Given the description of an element on the screen output the (x, y) to click on. 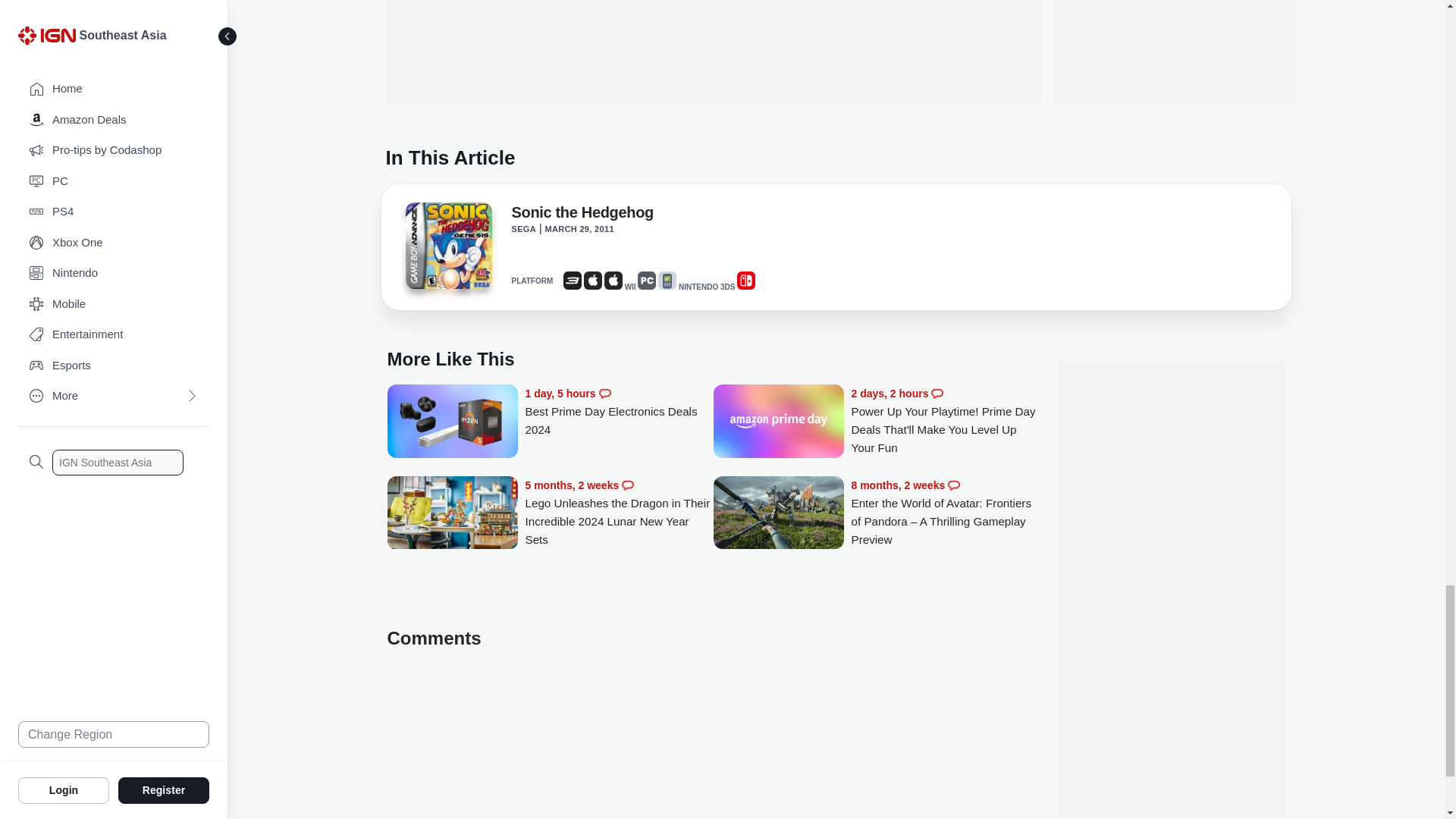
MACINTOSH (613, 280)
IPHONE (592, 280)
Best Prime Day Electronics Deals 2024 (451, 422)
Sonic the Hedgehog (448, 250)
Sonic the Hedgehog (448, 245)
PS3 (571, 280)
Best Prime Day Electronics Deals 2024 (618, 411)
Sonic the Hedgehog (581, 214)
3rd party ad content (713, 52)
